Given the description of an element on the screen output the (x, y) to click on. 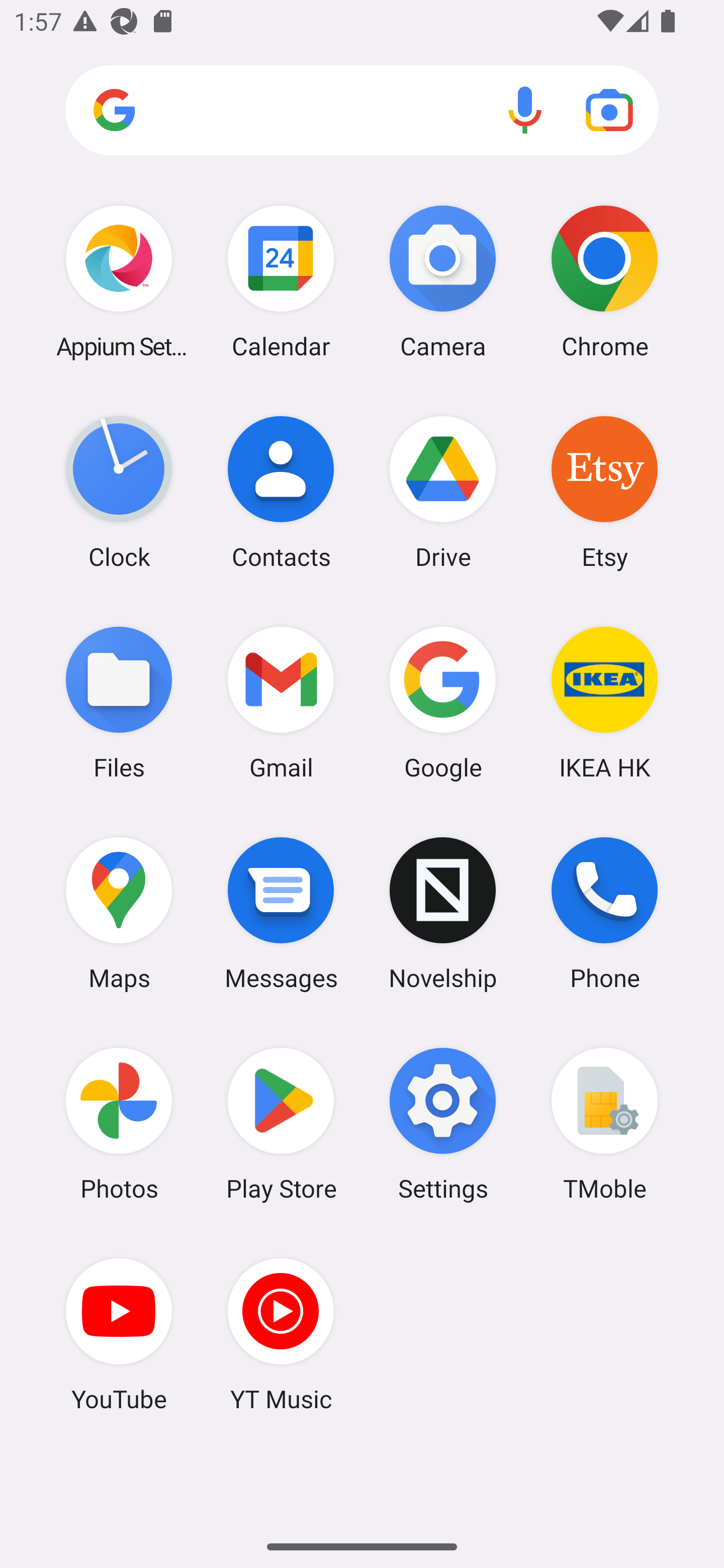
Search apps, web and more (361, 110)
Voice search (524, 109)
Google Lens (608, 109)
Appium Settings (118, 281)
Calendar (280, 281)
Camera (443, 281)
Chrome (604, 281)
Clock (118, 492)
Contacts (280, 492)
Drive (443, 492)
Etsy (604, 492)
Files (118, 702)
Gmail (280, 702)
Google (443, 702)
IKEA HK (604, 702)
Maps (118, 913)
Messages (280, 913)
Novelship (443, 913)
Phone (604, 913)
Photos (118, 1124)
Play Store (280, 1124)
Settings (443, 1124)
TMoble (604, 1124)
YouTube (118, 1334)
YT Music (280, 1334)
